Given the description of an element on the screen output the (x, y) to click on. 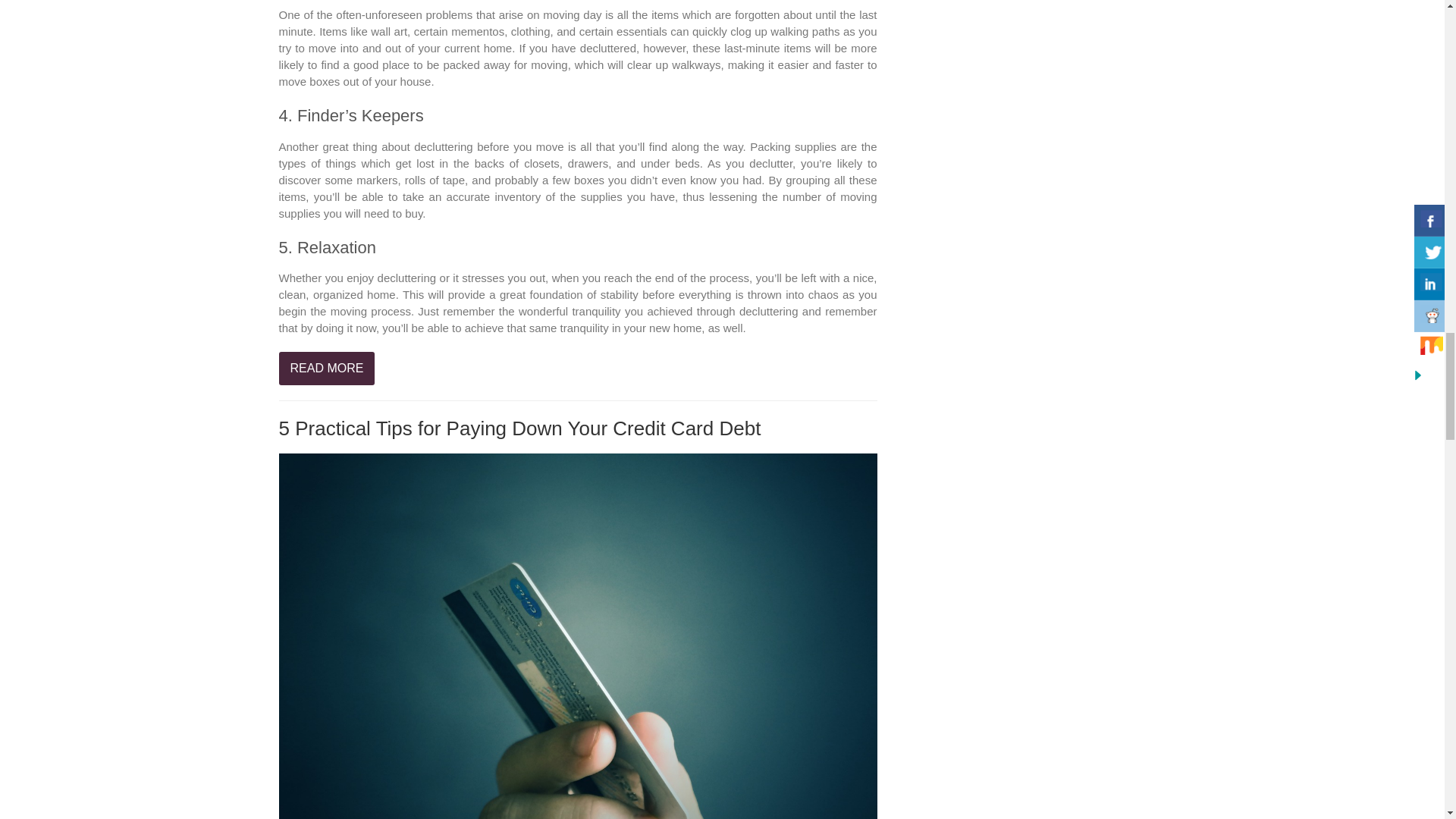
5 Practical Tips for Paying Down Your Credit Card Debt (520, 427)
READ MORE (327, 368)
moving supplies (578, 205)
